Given the description of an element on the screen output the (x, y) to click on. 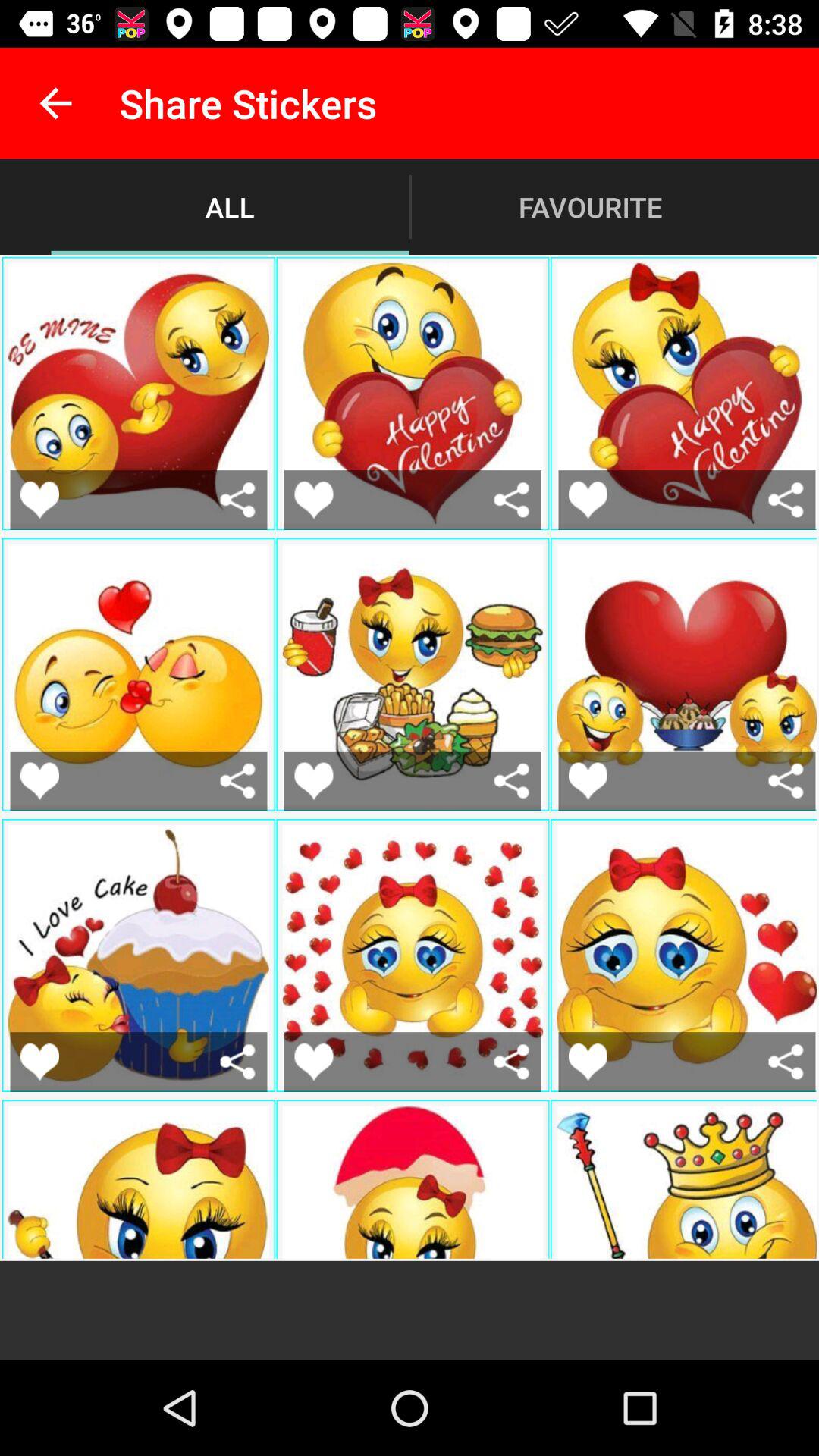
share the image (237, 780)
